Given the description of an element on the screen output the (x, y) to click on. 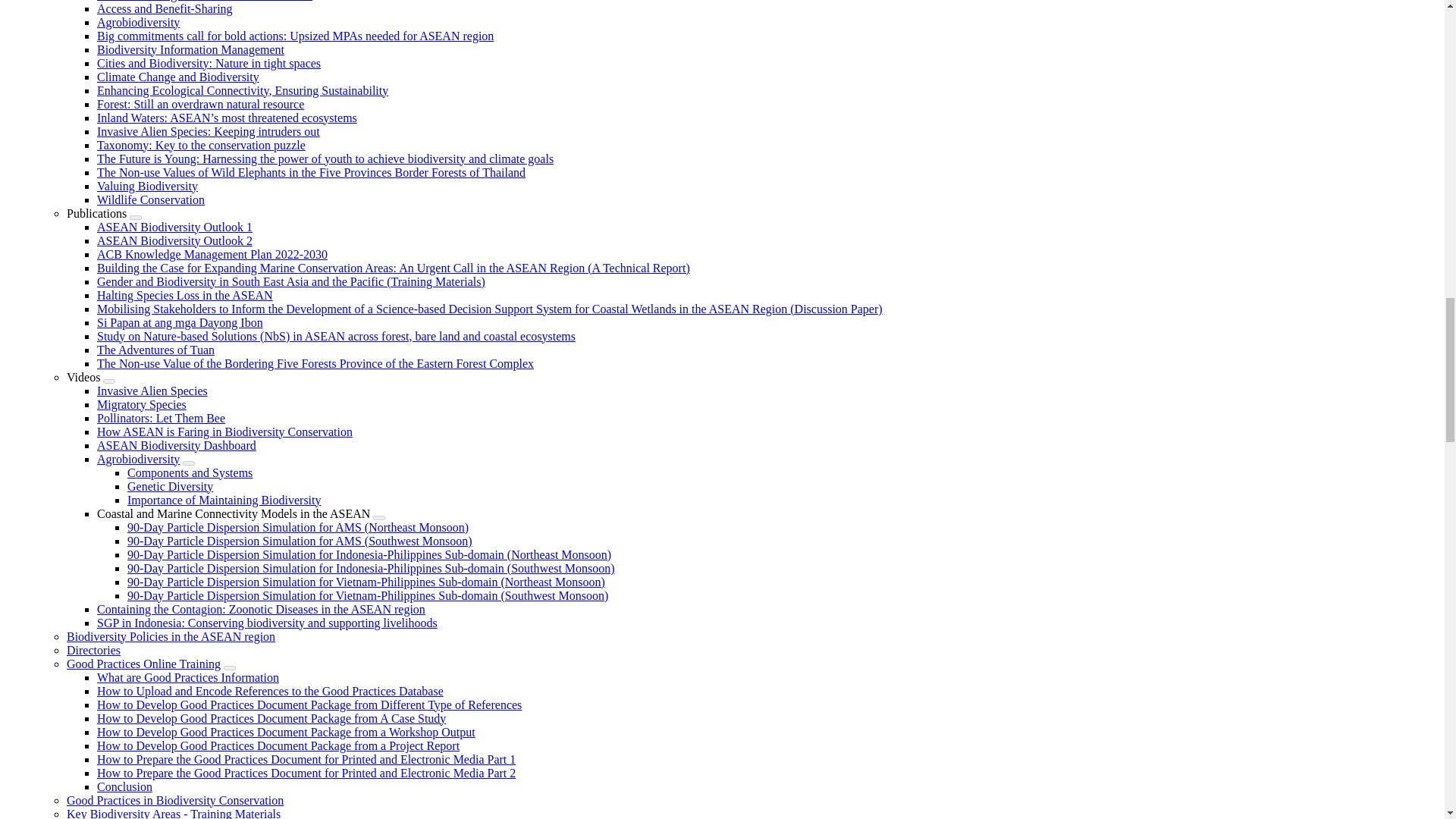
Conclusion (124, 786)
What are Good Practices Information (188, 676)
A Comic Book on Responsible Tourism in ASEAN Heritage Parks (155, 349)
